Given the description of an element on the screen output the (x, y) to click on. 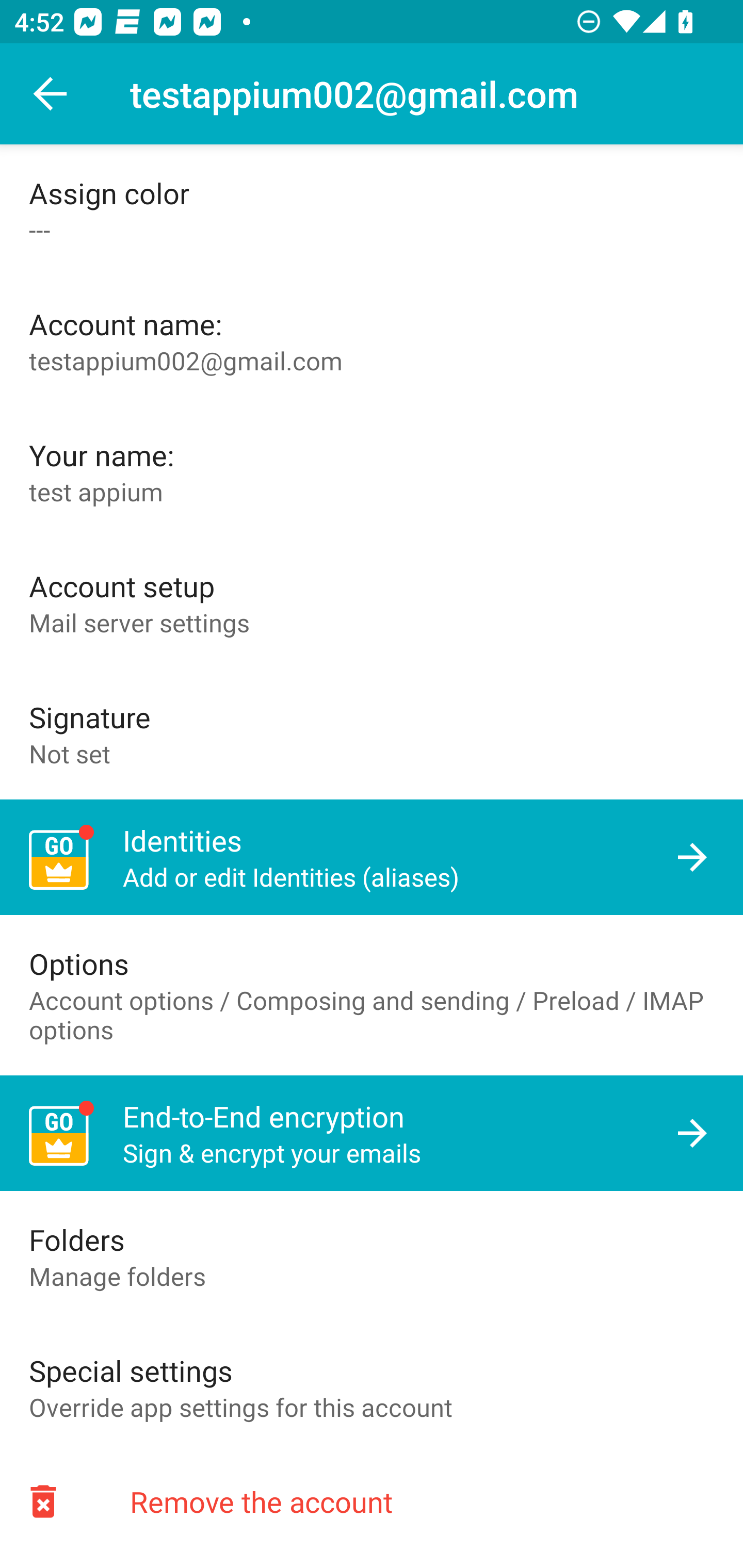
Navigate up (50, 93)
Assign color --- (371, 209)
Account name: testappium002@gmail.com (371, 340)
Your name: test appium (371, 471)
Account setup Mail server settings (371, 602)
Signature Not set (371, 733)
Identities Add or edit Identities (aliases) (371, 857)
End-to-End encryption Sign & encrypt your emails (371, 1133)
Folders Manage folders (371, 1256)
Remove the account (371, 1501)
